Given the description of an element on the screen output the (x, y) to click on. 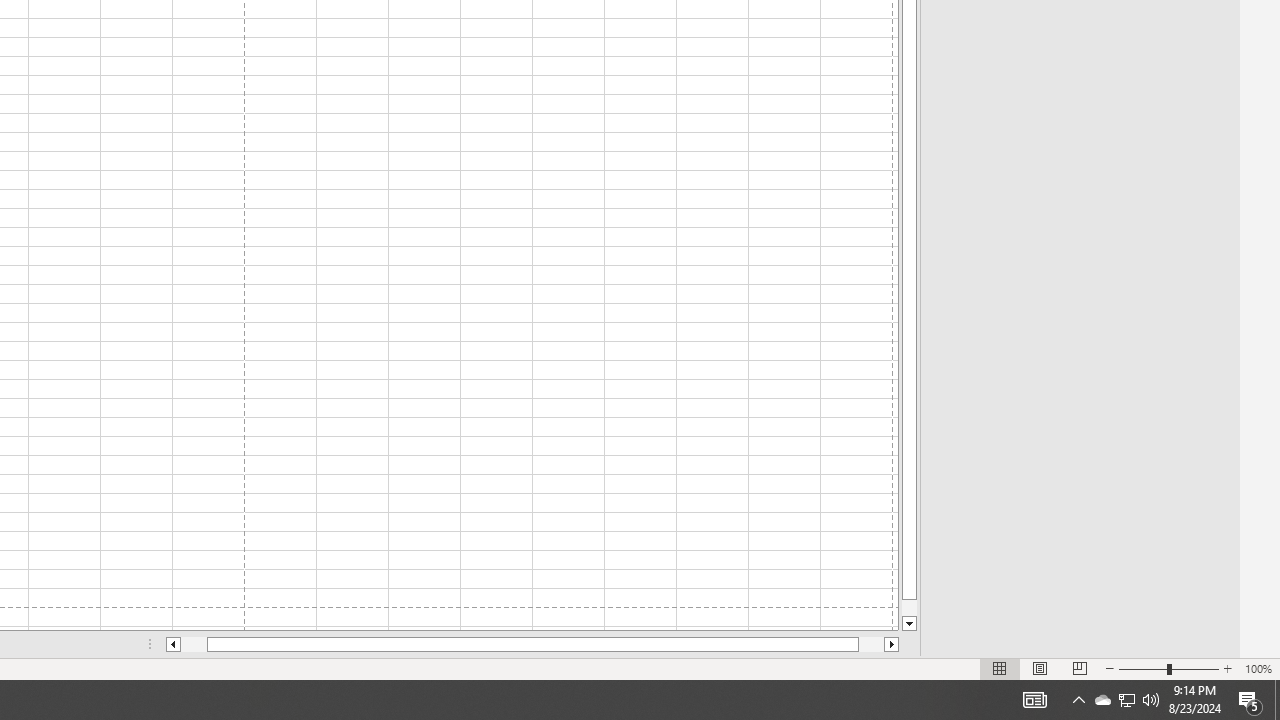
User Promoted Notification Area (1126, 699)
Notification Chevron (1078, 699)
Q2790: 100% (1102, 699)
AutomationID: 4105 (1151, 699)
Show desktop (1034, 699)
